Given the description of an element on the screen output the (x, y) to click on. 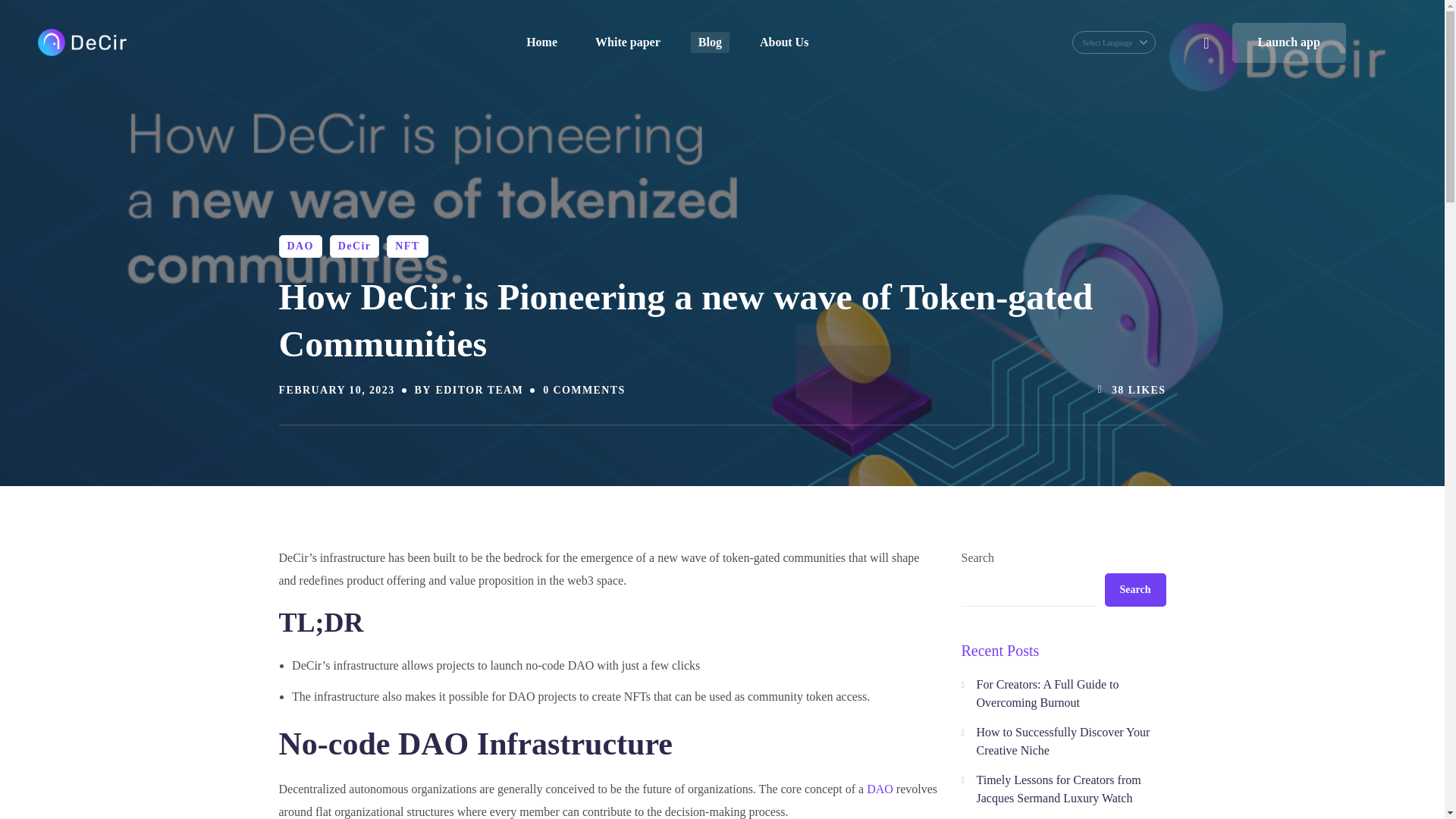
Search (1114, 36)
Search (1185, 121)
DAO (879, 788)
38 LIKES (1127, 390)
White paper (627, 42)
Leave a reply (584, 389)
Launch app (1288, 42)
EDITOR TEAM (479, 389)
About Us (784, 42)
DAO (300, 246)
